Given the description of an element on the screen output the (x, y) to click on. 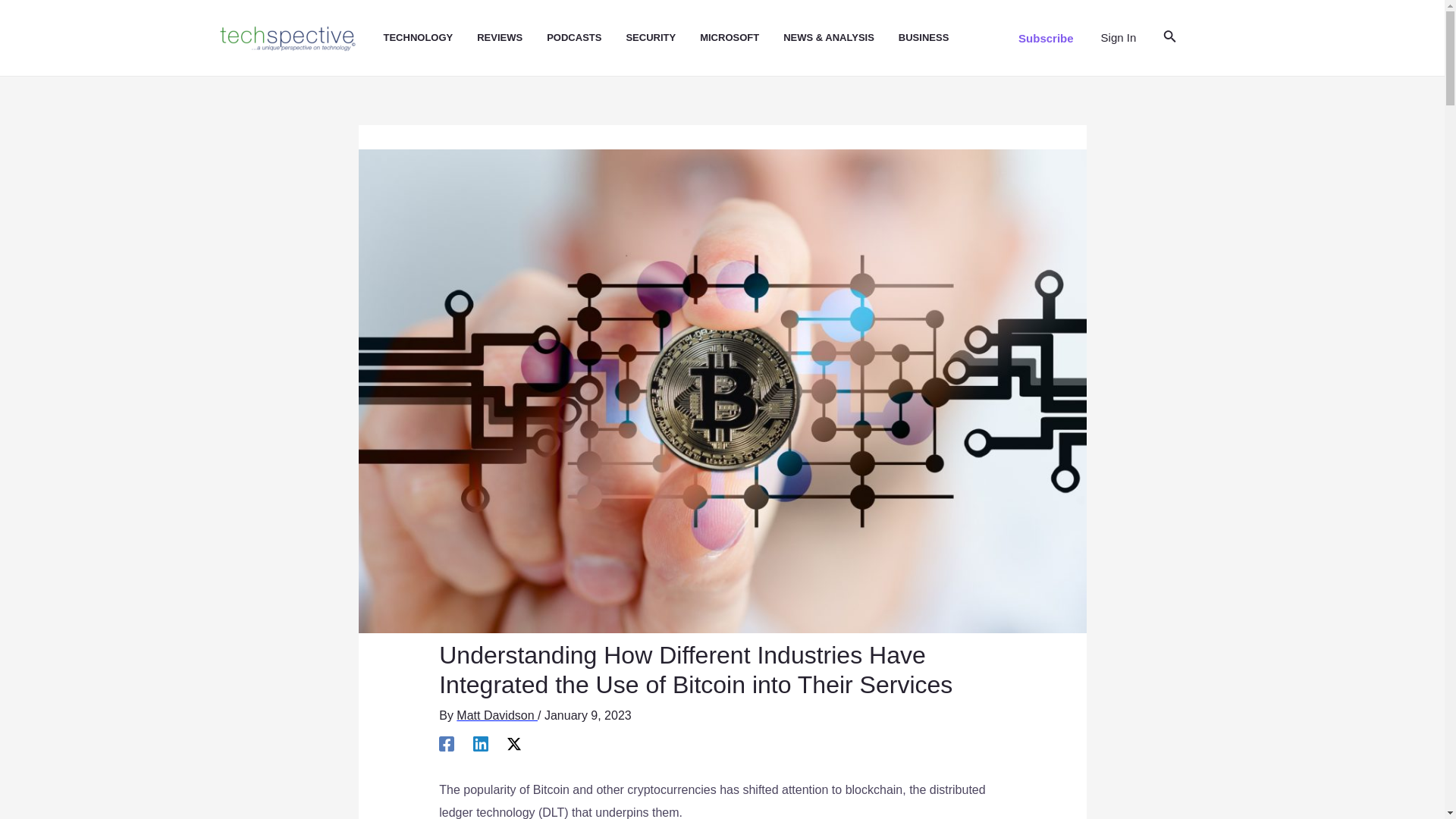
MICROSOFT (741, 38)
Sign In (1118, 37)
View all posts by Matt Davidson (497, 715)
Matt Davidson (497, 715)
PODCASTS (586, 38)
BUSINESS (935, 38)
TECHNOLOGY (430, 38)
REVIEWS (512, 38)
Subscribe (1045, 37)
SECURITY (663, 38)
